Given the description of an element on the screen output the (x, y) to click on. 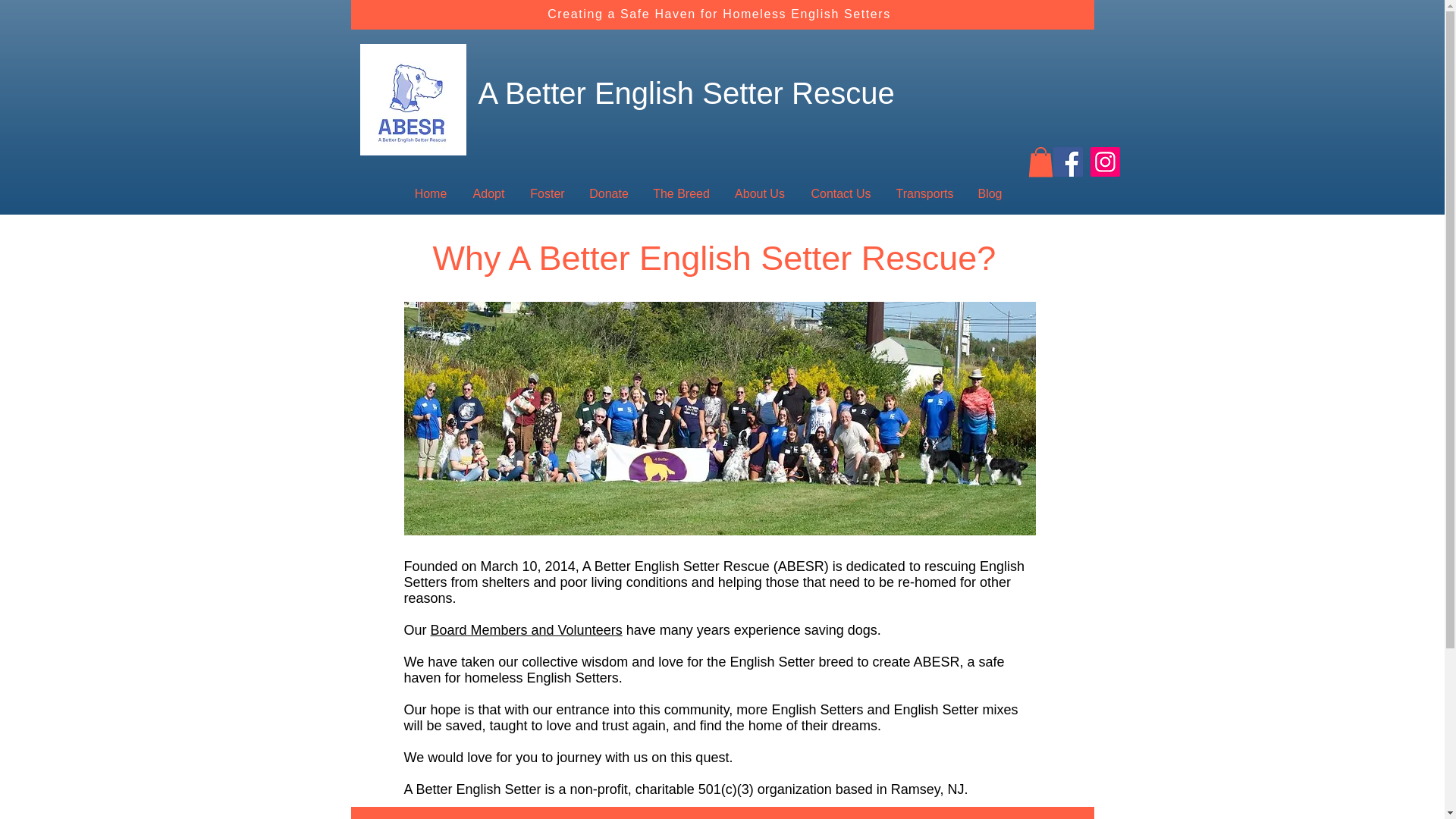
Home (429, 193)
Blog (990, 193)
Adopt (489, 193)
Transports (924, 193)
About Us (459, 818)
Donate (608, 193)
The Breed (682, 193)
Creating a Safe Haven for Homeless English Setters (719, 13)
Contact Us (840, 193)
